Given the description of an element on the screen output the (x, y) to click on. 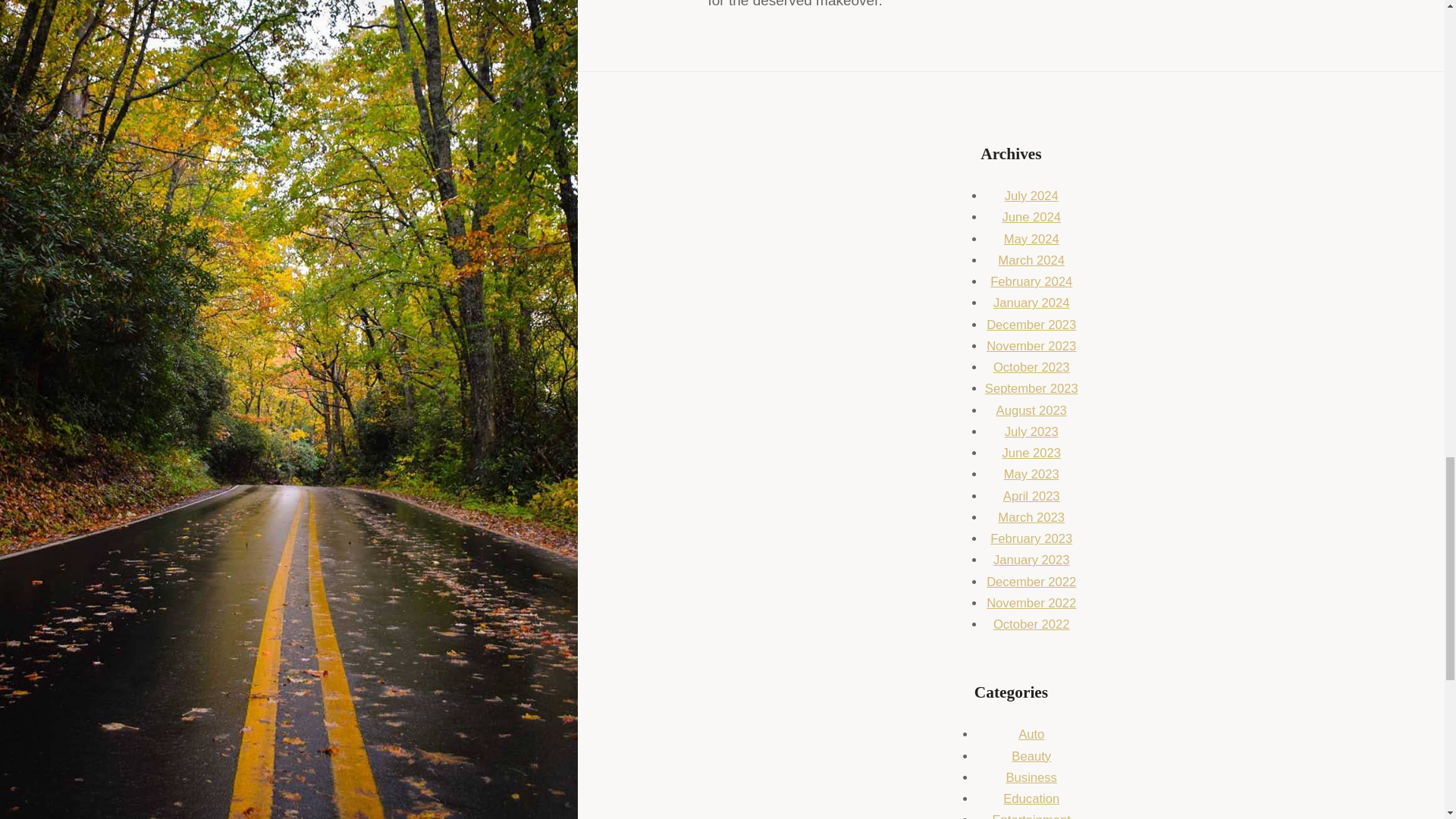
February 2023 (1030, 538)
July 2023 (1031, 431)
October 2022 (1031, 624)
September 2023 (1031, 388)
May 2023 (1031, 473)
December 2023 (1031, 324)
July 2024 (1031, 196)
June 2024 (1031, 216)
Business (1031, 777)
May 2024 (1031, 238)
March 2023 (1030, 517)
August 2023 (1031, 410)
June 2023 (1031, 452)
February 2024 (1030, 281)
March 2024 (1030, 260)
